Given the description of an element on the screen output the (x, y) to click on. 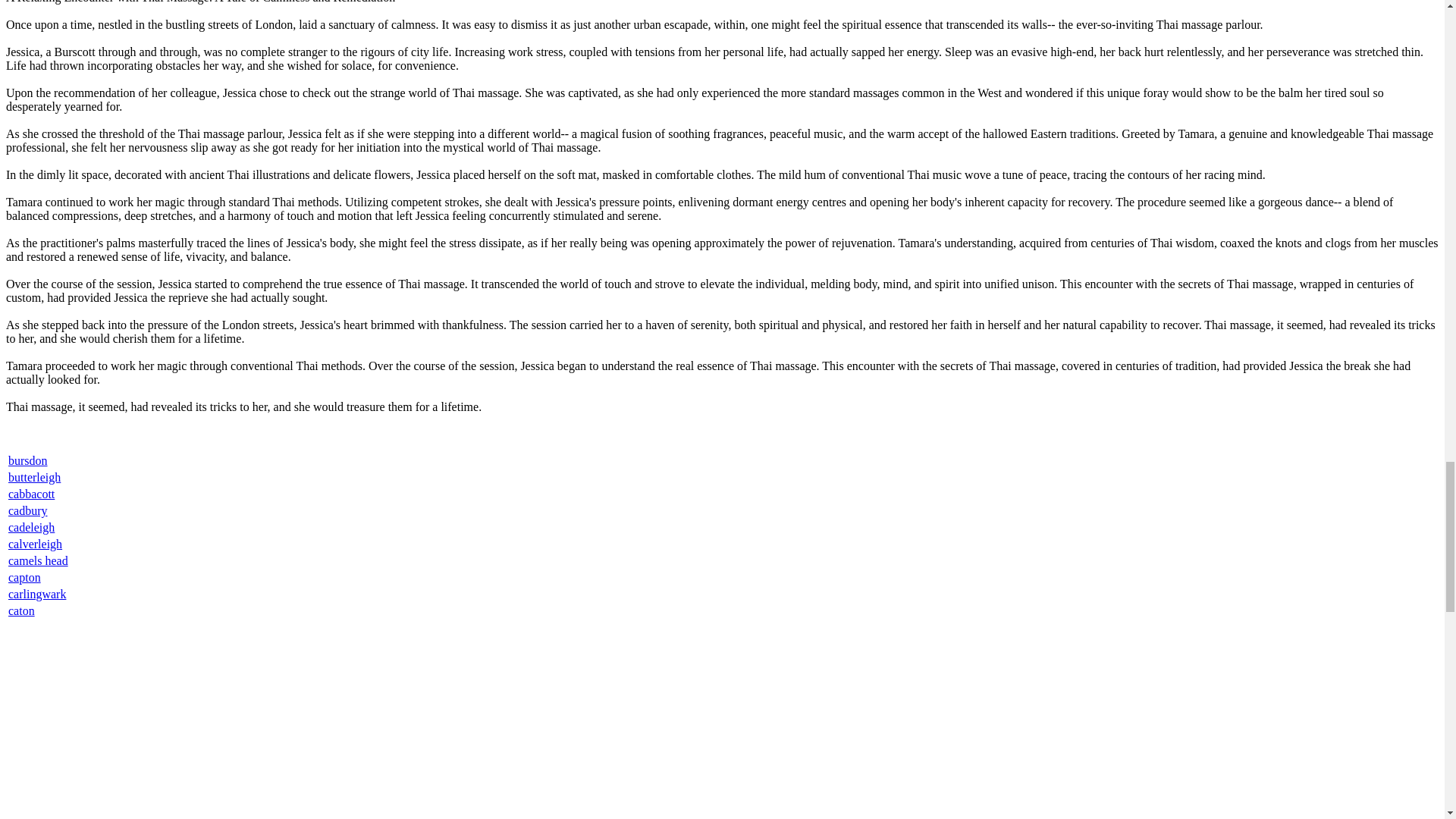
camels head (38, 560)
calverleigh (35, 543)
bursdon (28, 460)
capton (24, 576)
butterleigh (34, 477)
cadbury (28, 510)
cadeleigh (31, 526)
cabbacott (31, 493)
carlingwark (36, 594)
caton (21, 610)
